Given the description of an element on the screen output the (x, y) to click on. 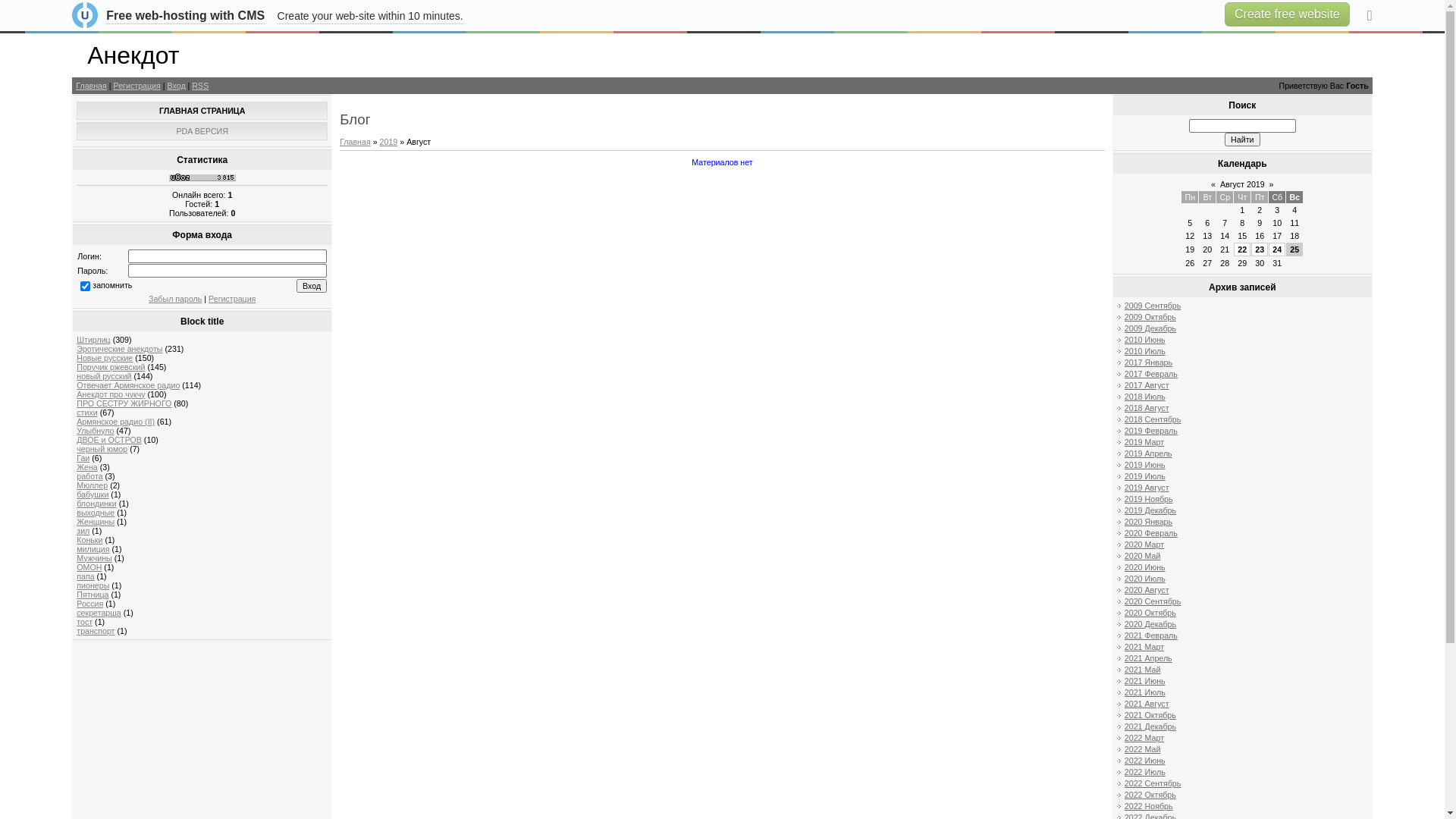
24 Element type: text (1276, 249)
22 Element type: text (1241, 249)
2019 Element type: text (388, 141)
23 Element type: text (1259, 249)
RSS Element type: text (199, 85)
uCoz Counter Element type: hover (202, 177)
